Given the description of an element on the screen output the (x, y) to click on. 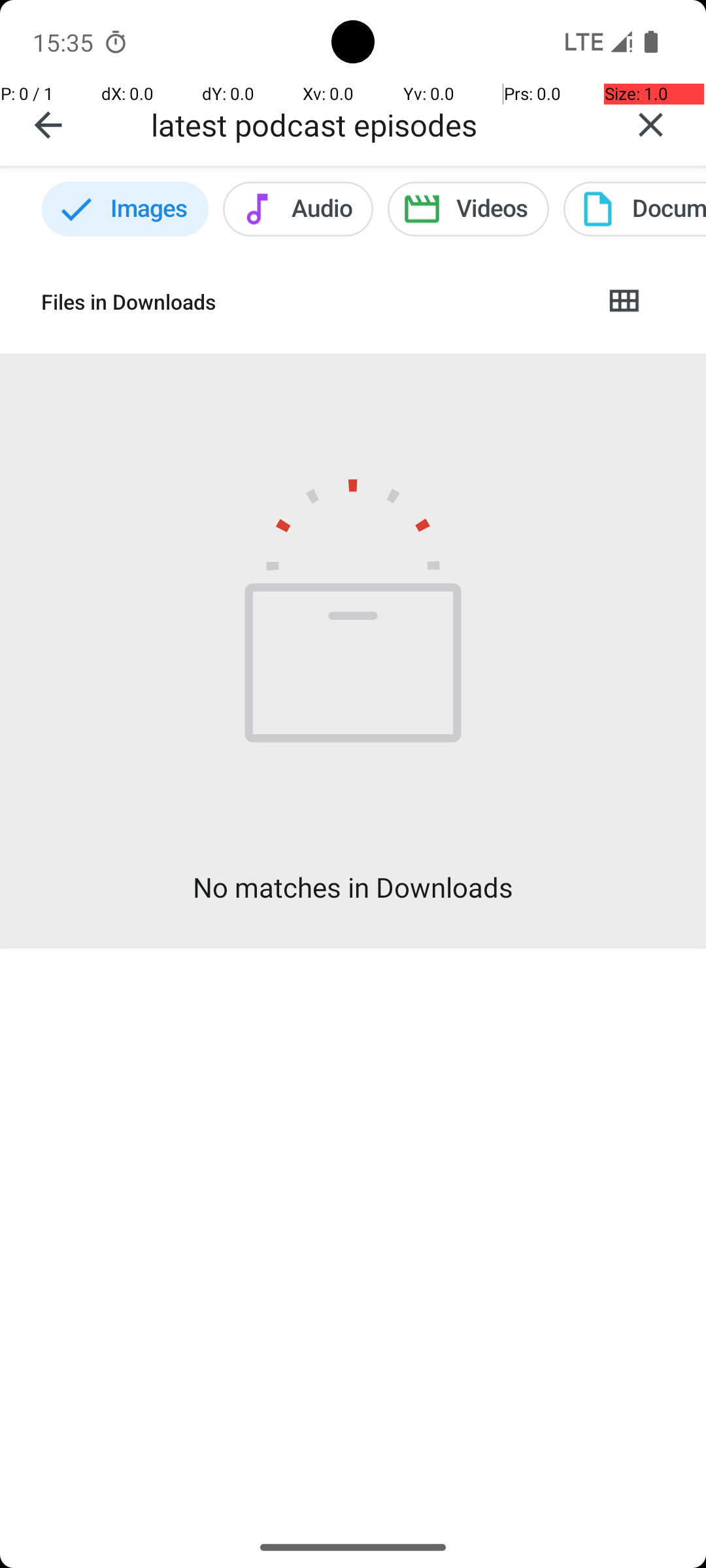
latest podcast episodes Element type: android.widget.AutoCompleteTextView (373, 124)
